Given the description of an element on the screen output the (x, y) to click on. 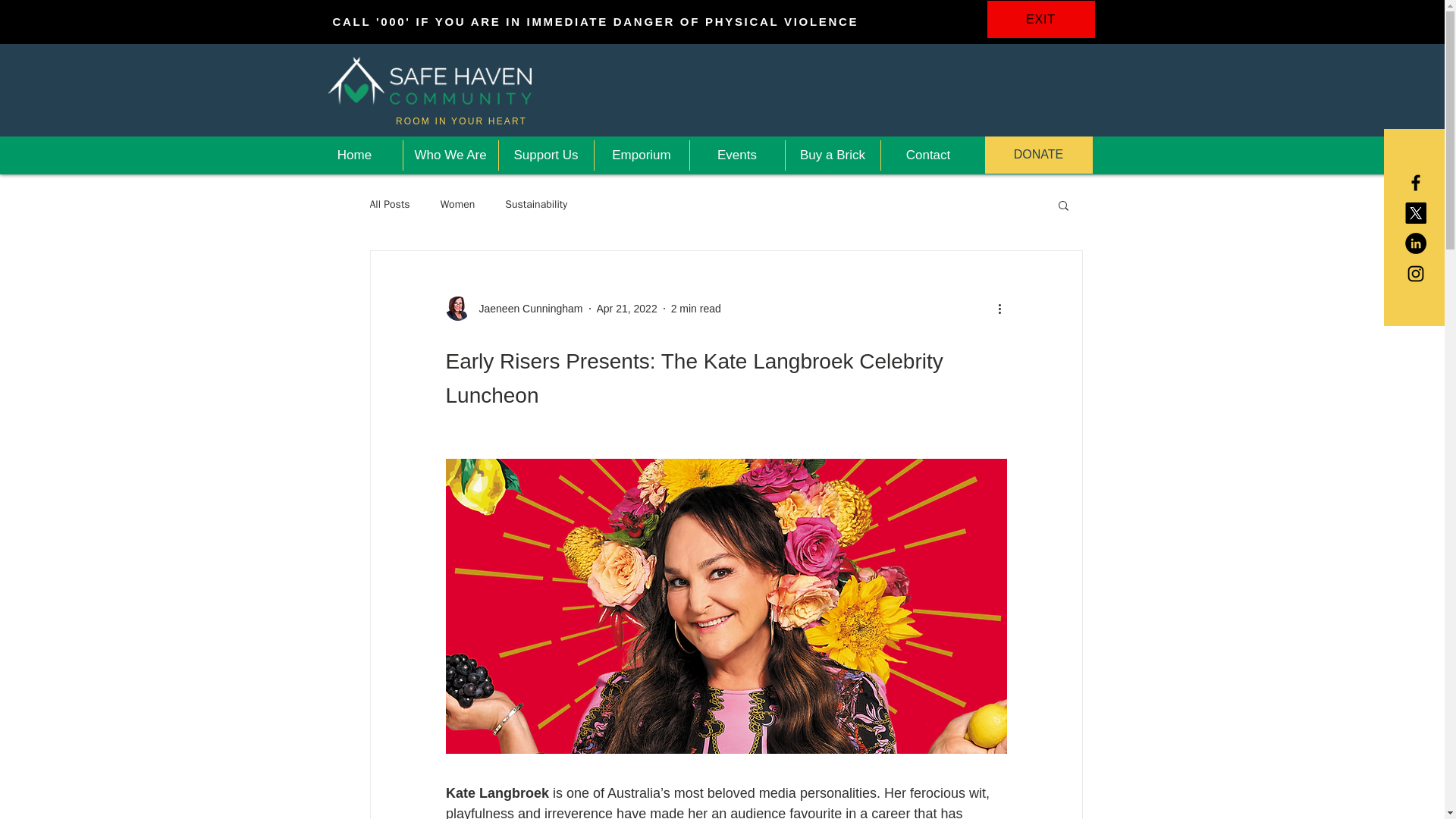
Emporium (641, 155)
DONATE (1038, 154)
2 min read (695, 307)
Support Us (546, 155)
Who We Are (450, 155)
Contact (927, 155)
Events (737, 155)
Jaeneen Cunningham (526, 308)
Buy a Brick (833, 155)
EXIT (1040, 18)
Home (353, 155)
Women (458, 204)
Apr 21, 2022 (625, 307)
Sustainability (536, 204)
All Posts (389, 204)
